Given the description of an element on the screen output the (x, y) to click on. 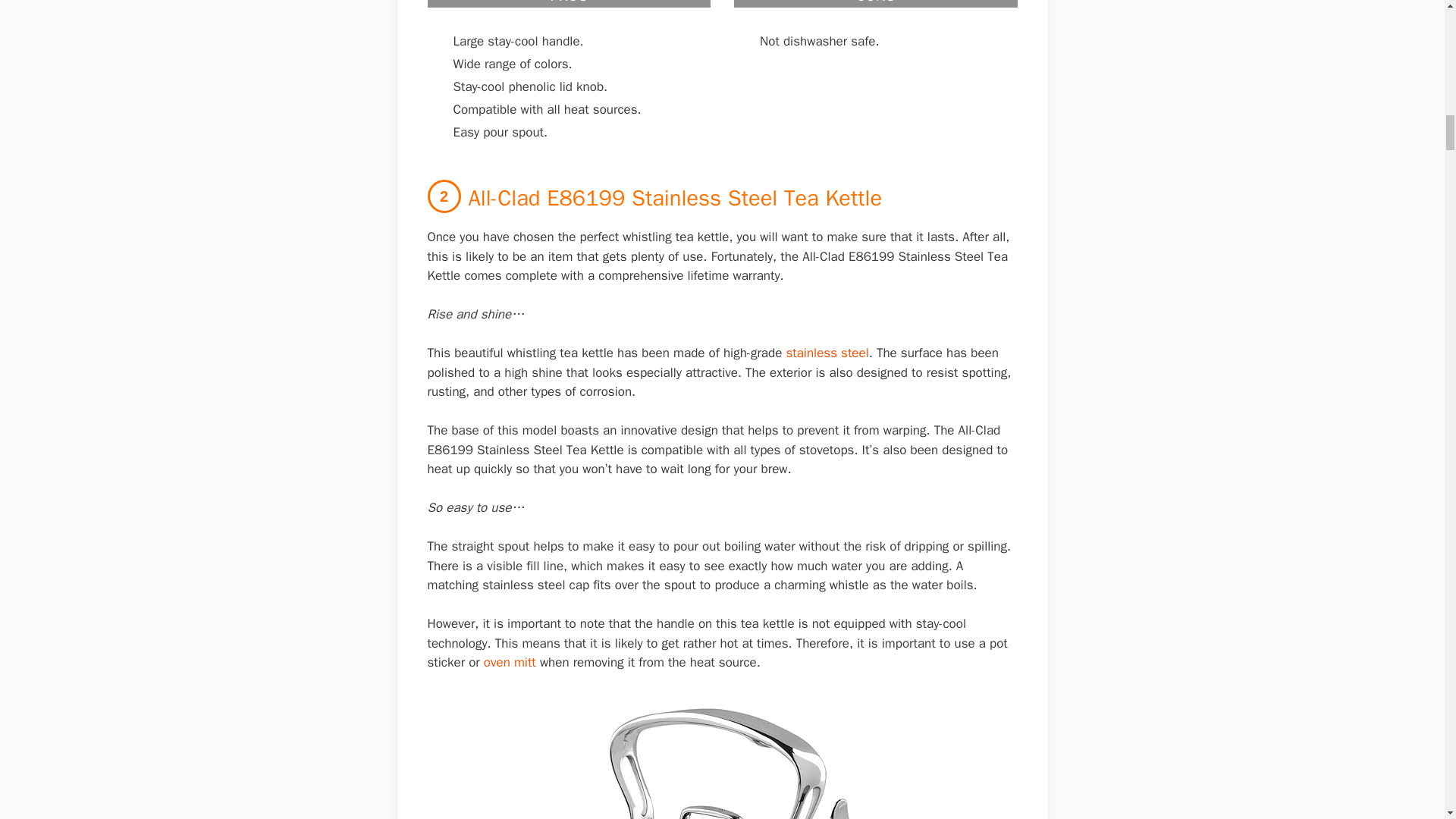
oven mitt (509, 662)
stainless steel (826, 352)
